Given the description of an element on the screen output the (x, y) to click on. 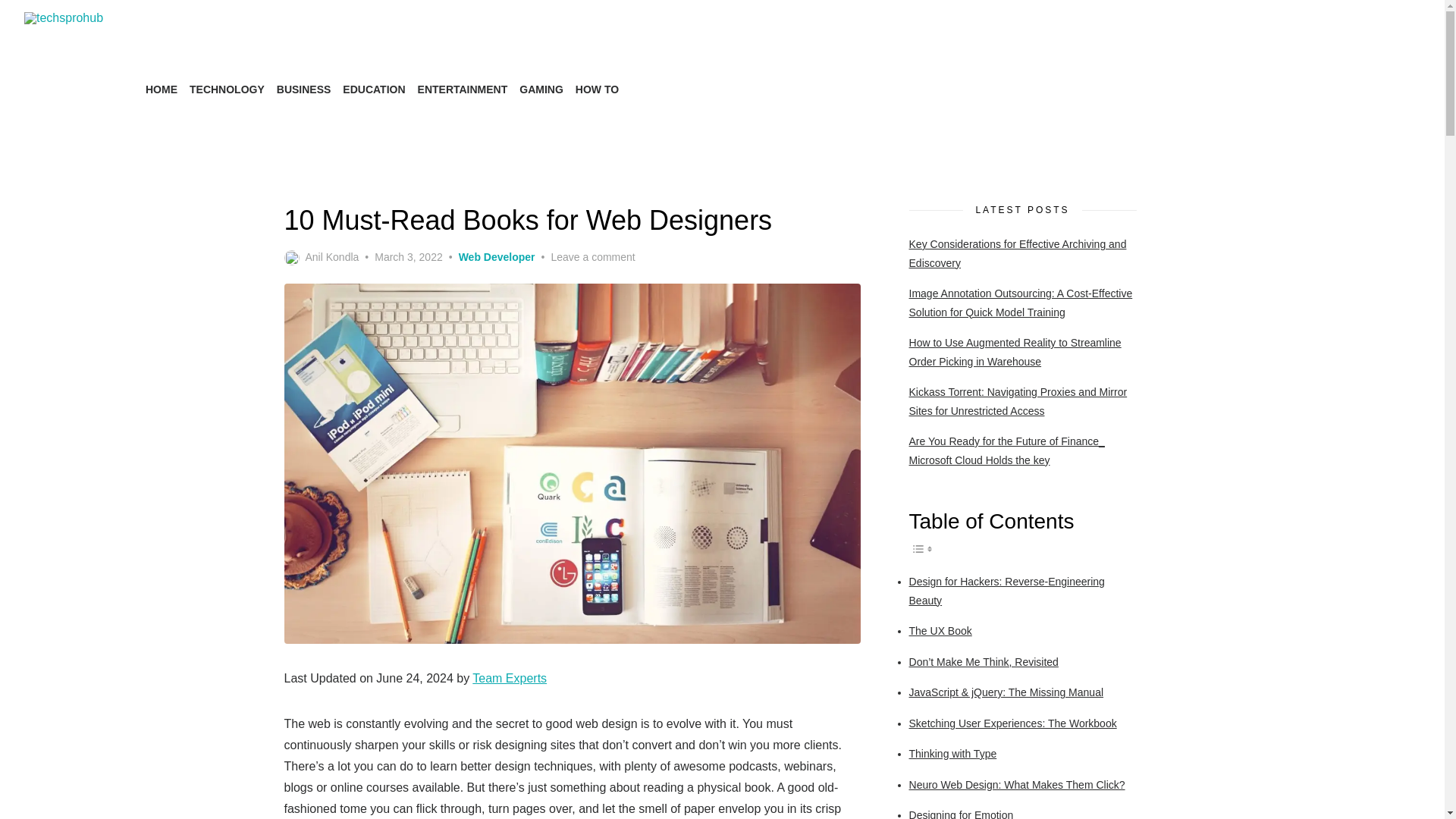
Sketching User Experiences: The Workbook (1012, 723)
Design for Hackers: Reverse-Engineering Beauty (1006, 590)
Thinking with Type (952, 753)
Designing for Emotion (960, 814)
EDUCATION (373, 88)
Team Experts (509, 677)
HOME (161, 88)
ENTERTAINMENT (462, 88)
Web Developer (496, 257)
Neuro Web Design: What Makes Them Click? (1016, 784)
HOW TO (596, 88)
The UX Book (940, 630)
TECHNOLOGY (226, 88)
Leave a comment (592, 257)
March 3, 2022 (408, 257)
